Given the description of an element on the screen output the (x, y) to click on. 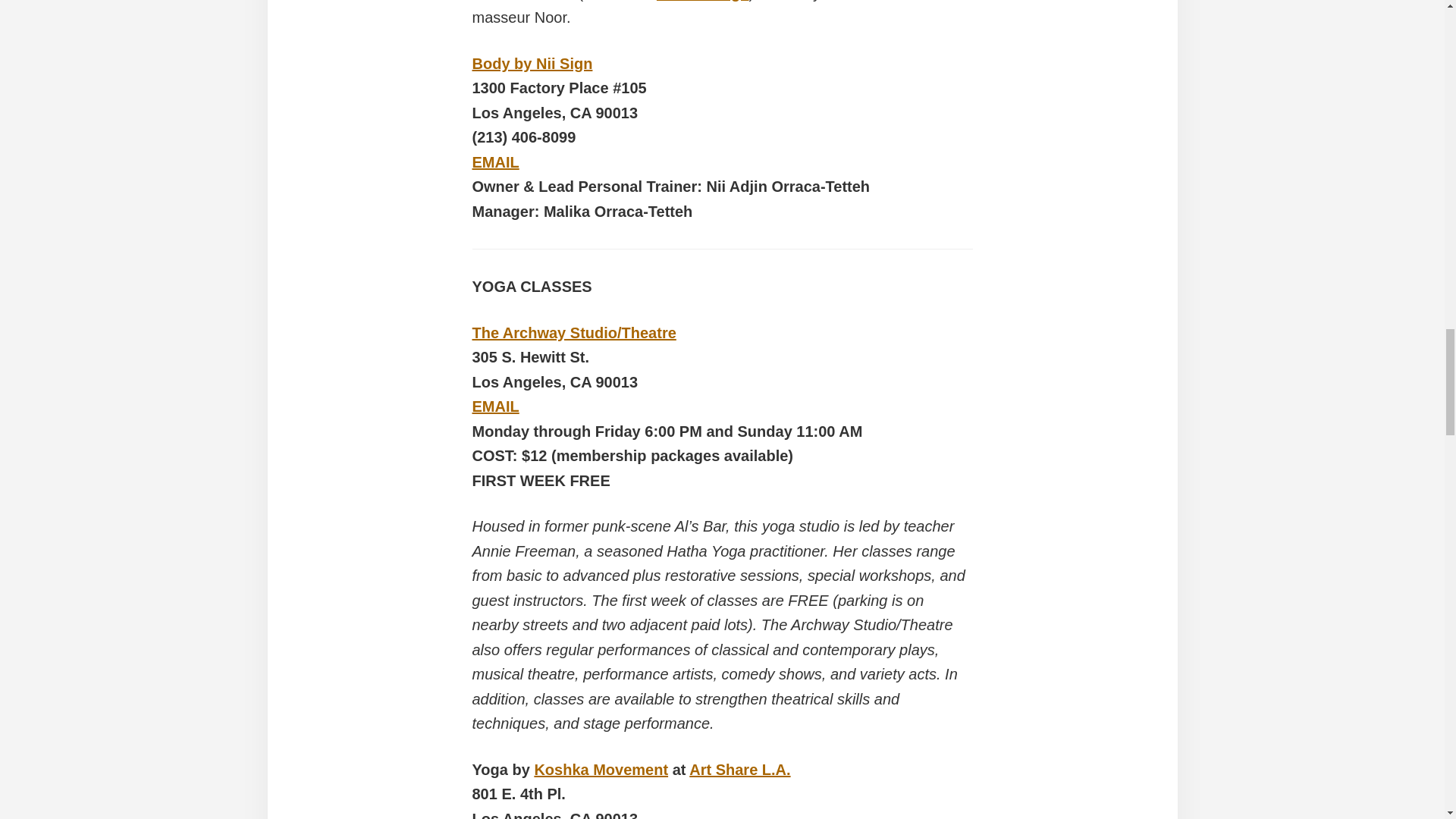
Forrest Yoga (702, 0)
EMAIL (494, 161)
Body by Nii Sign (531, 63)
Koshka Movement (601, 769)
Art Share L.A. (739, 769)
EMAIL (494, 406)
